Given the description of an element on the screen output the (x, y) to click on. 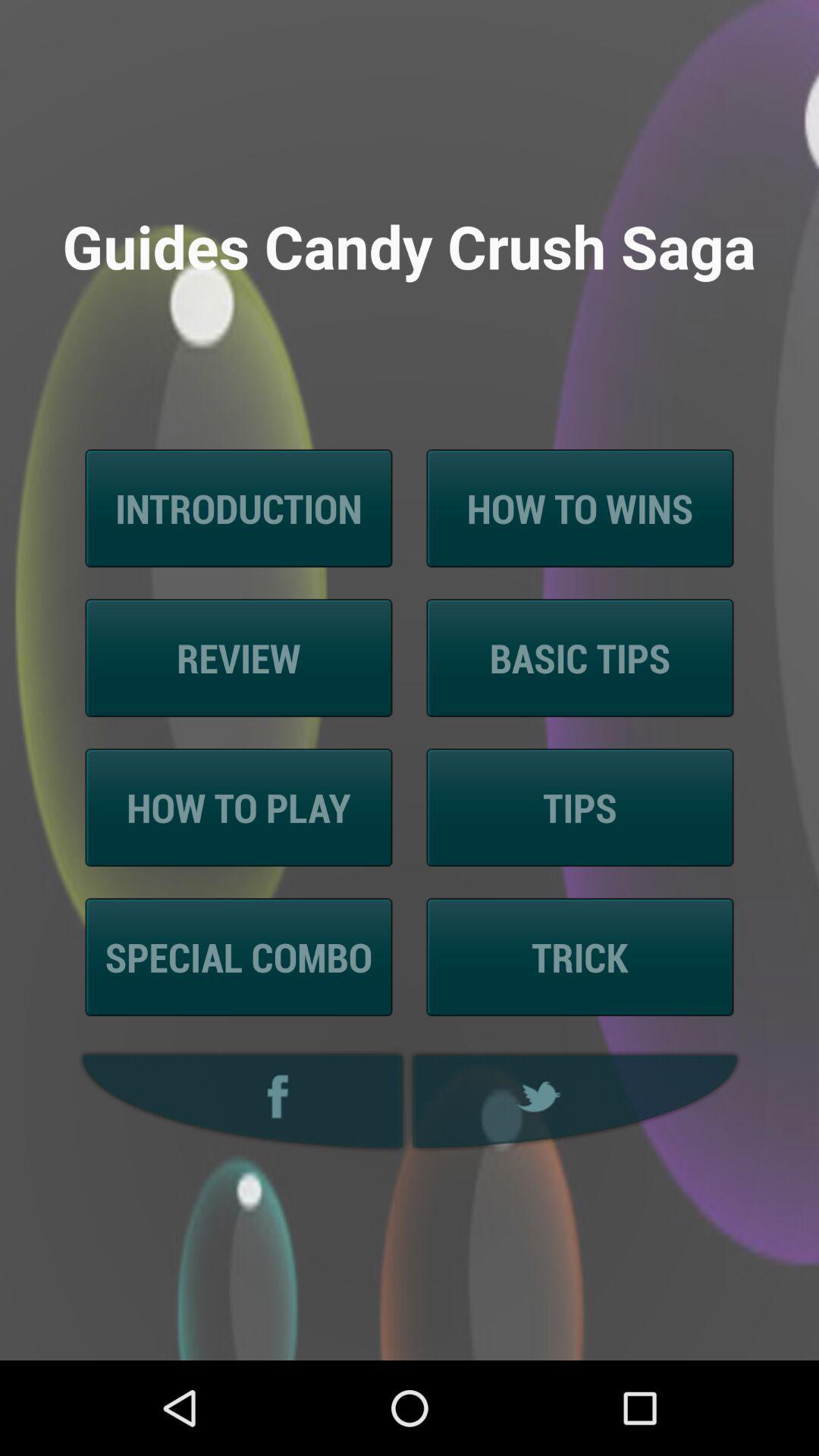
share to twitter (577, 1101)
